Given the description of an element on the screen output the (x, y) to click on. 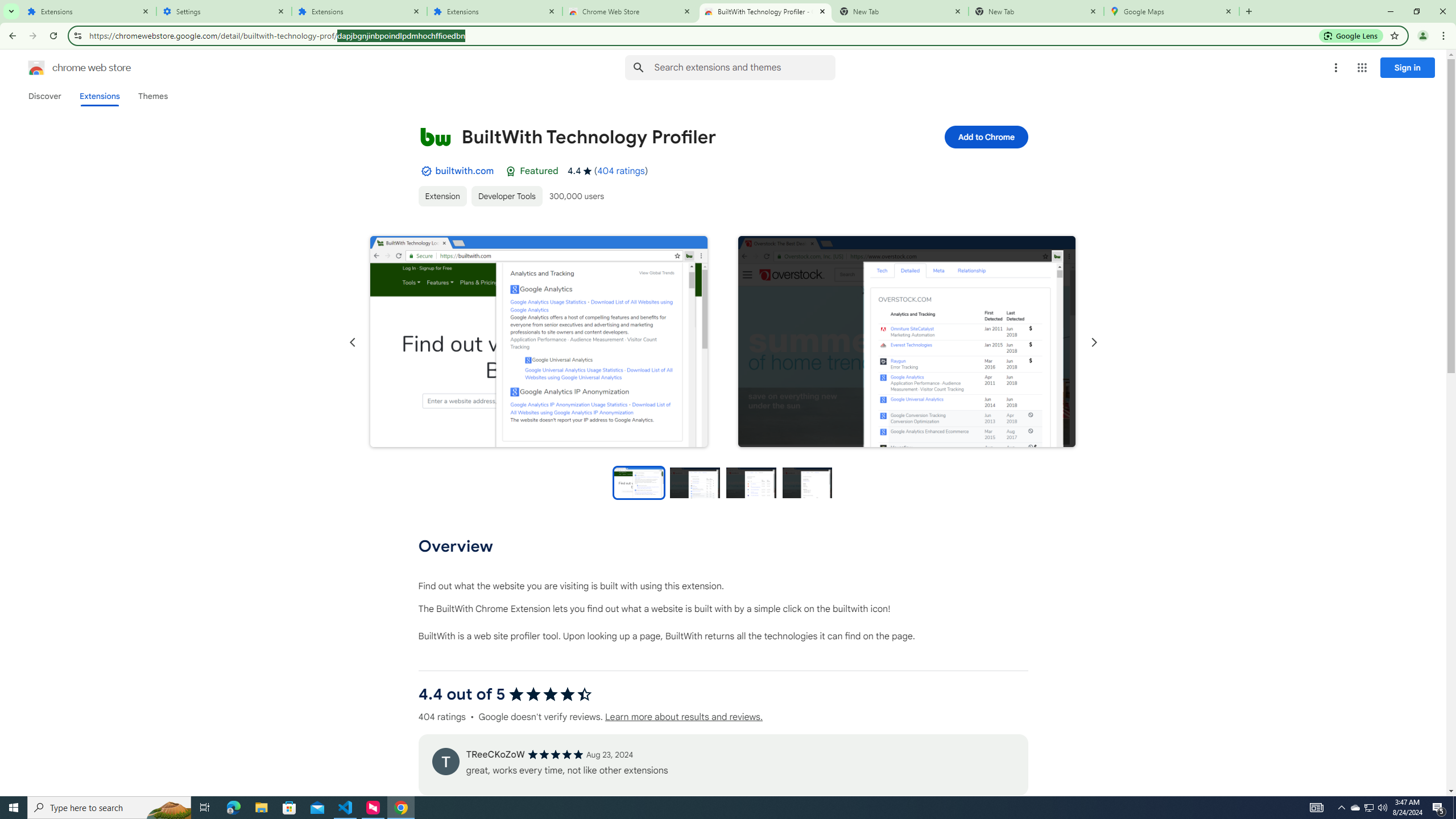
Search input (744, 67)
Discover (43, 95)
Extensions (99, 95)
Preview slide 3 (751, 482)
Reload (52, 35)
You (1422, 35)
By Established Publisher Badge (425, 170)
Item media 2 screenshot (906, 342)
Settings (224, 11)
Preview slide 2 (694, 482)
Preview slide 1 (637, 482)
Search with Google Lens (1351, 35)
